Given the description of an element on the screen output the (x, y) to click on. 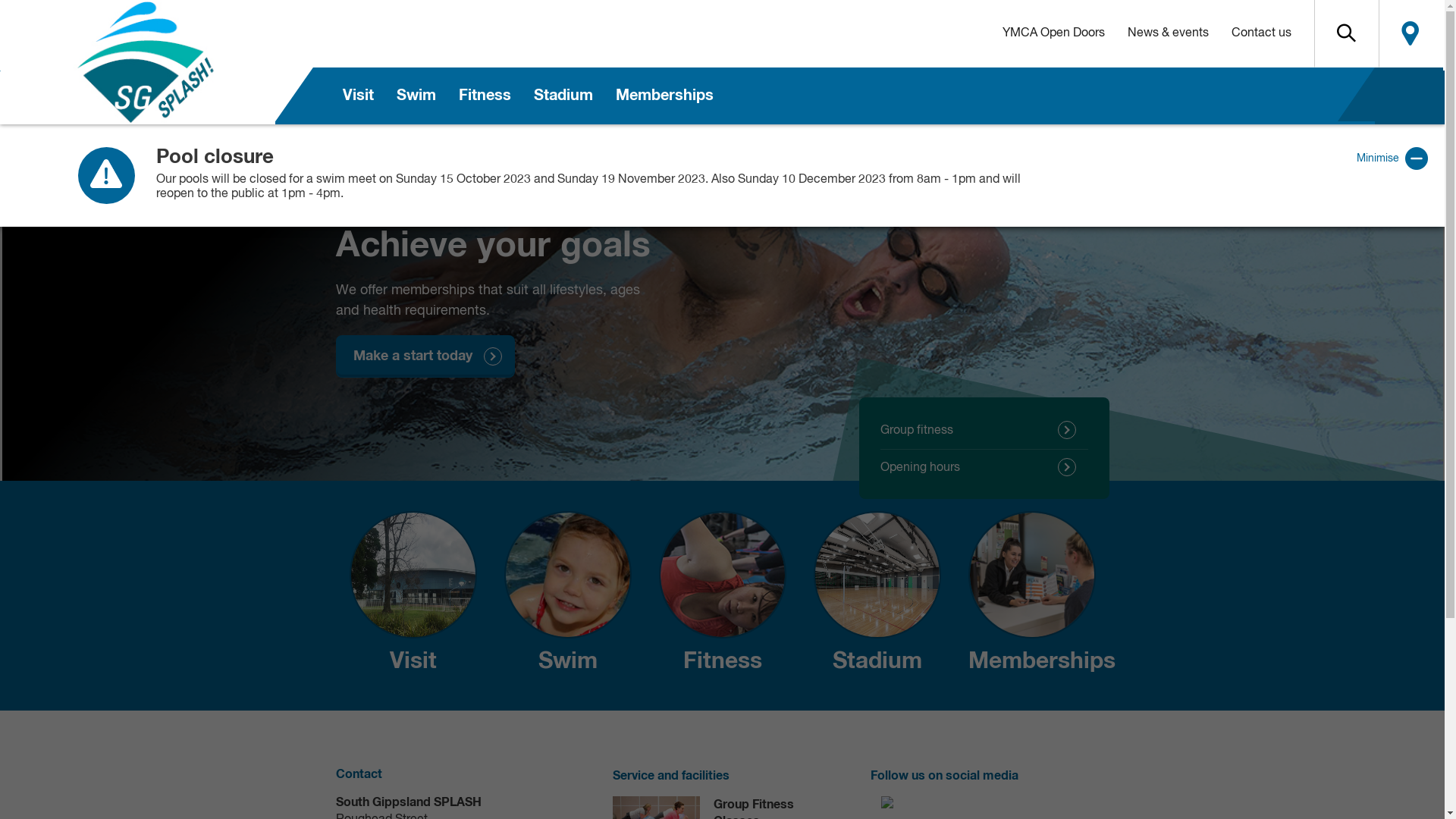
Make a start today Element type: text (424, 356)
Visit Element type: text (358, 95)
Locate Element type: text (1410, 33)
Visit Element type: text (412, 595)
Swim Element type: text (416, 95)
Memberships Element type: text (664, 95)
YMCA Open Doors Element type: text (1052, 33)
Group fitness Element type: text (983, 430)
Fitness Element type: text (721, 595)
Fitness Element type: text (484, 95)
Stadium Element type: text (876, 595)
Memberships Element type: text (1030, 595)
Swim Element type: text (566, 595)
News & events Element type: text (1168, 33)
Stadium Element type: text (563, 95)
Contact us Element type: text (1260, 33)
Opening hours Element type: text (983, 467)
